Given the description of an element on the screen output the (x, y) to click on. 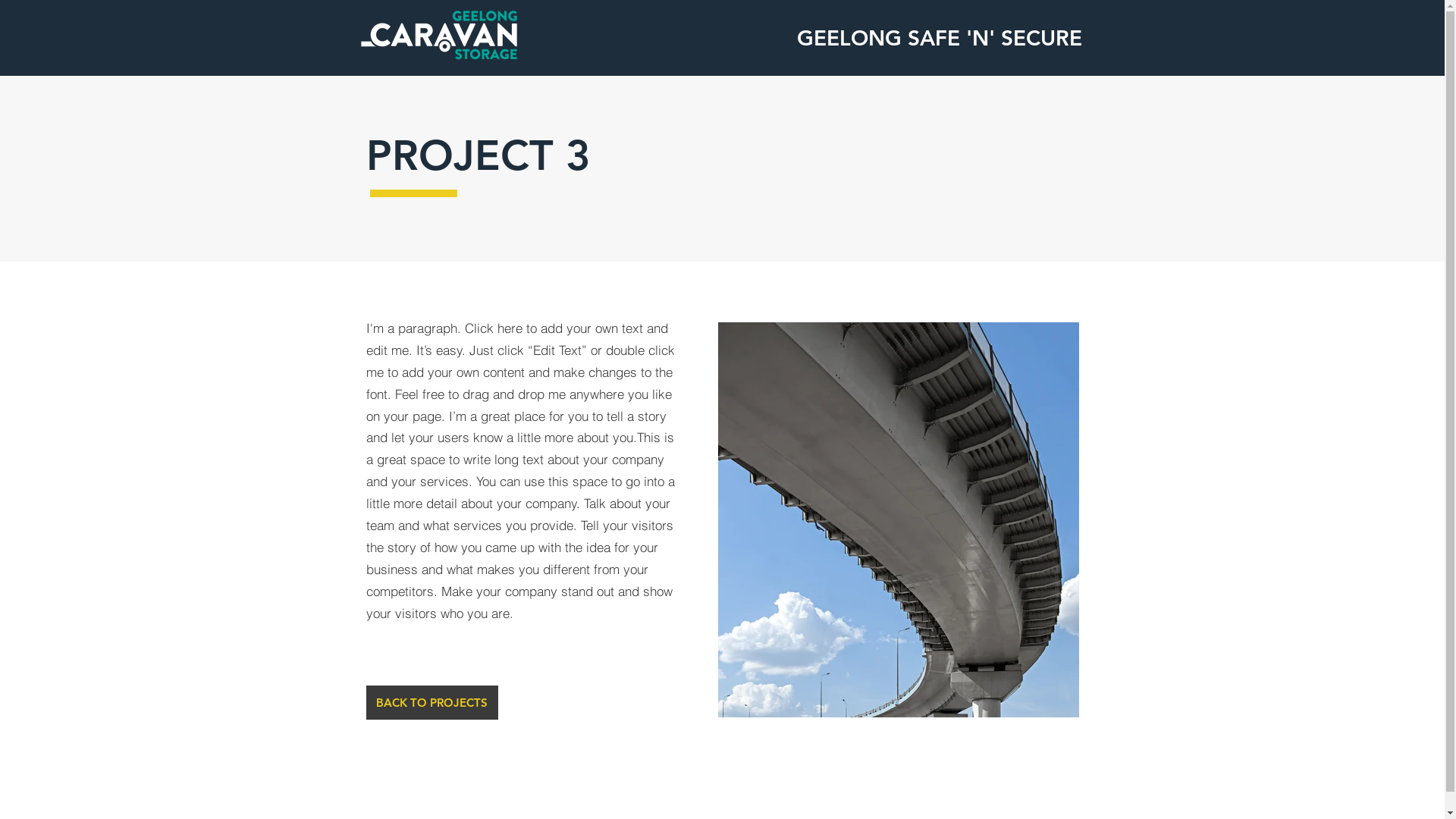
BACK TO PROJECTS Element type: text (431, 702)
